Given the description of an element on the screen output the (x, y) to click on. 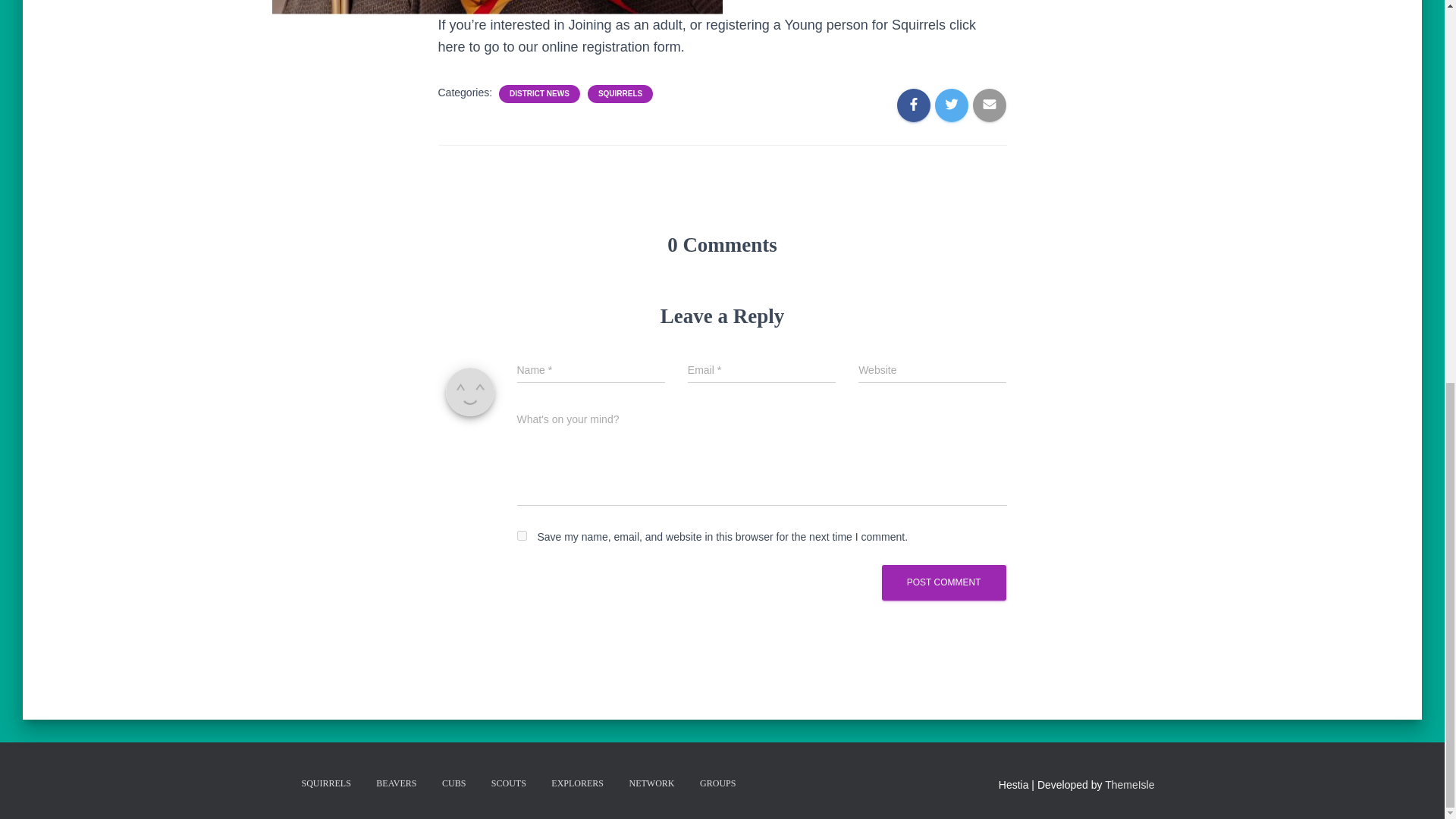
SQUIRRELS (619, 93)
SQUIRRELS (325, 783)
yes (521, 535)
GROUPS (717, 783)
BEAVERS (396, 783)
SCOUTS (508, 783)
Post Comment (944, 582)
CUBS (453, 783)
Post Comment (944, 582)
ThemeIsle (1129, 784)
DISTRICT NEWS (539, 93)
EXPLORERS (577, 783)
NETWORK (651, 783)
